Given the description of an element on the screen output the (x, y) to click on. 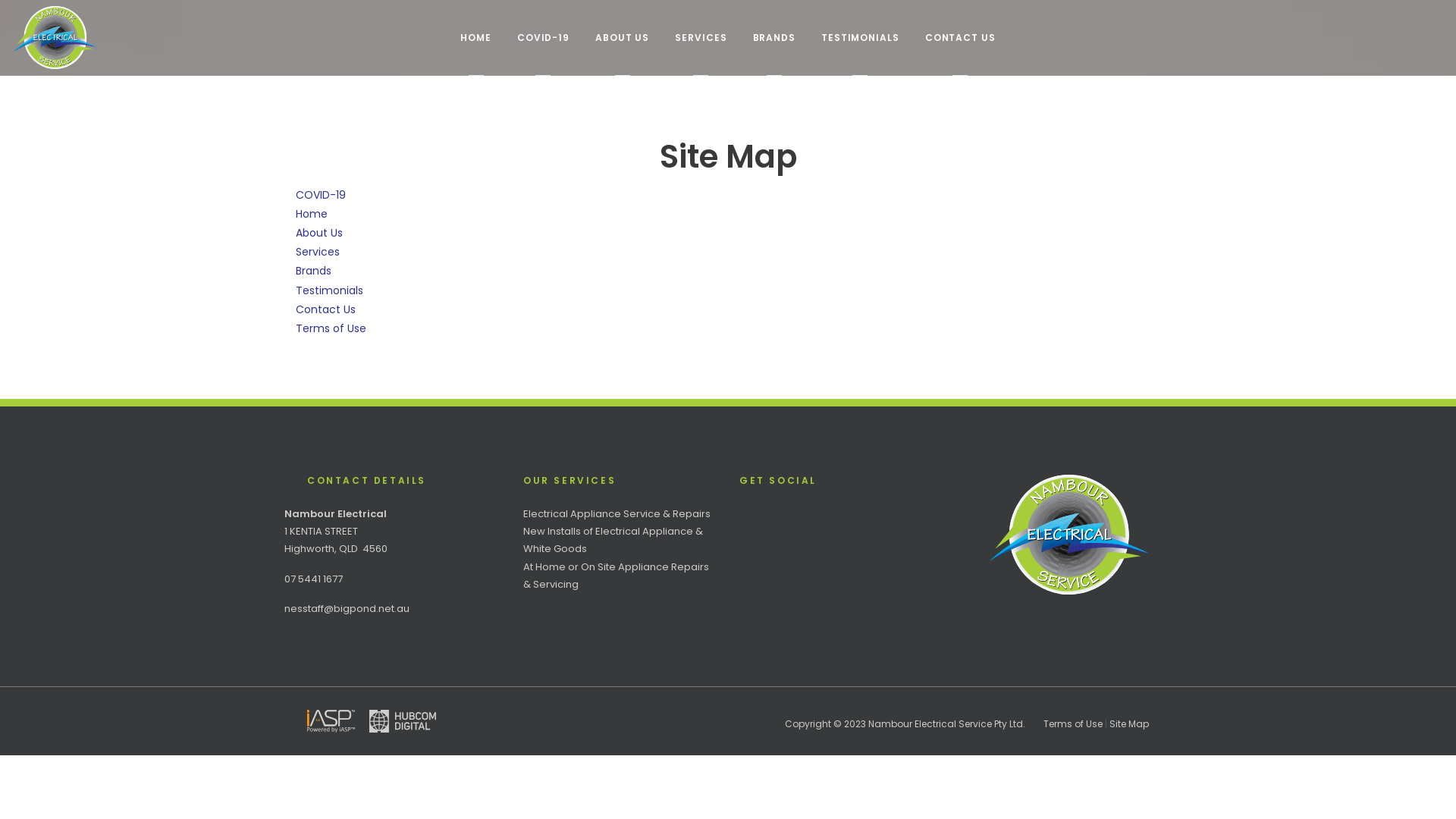
Web Design & Website Development by HubCom Digital Element type: hover (402, 719)
Home Element type: text (311, 213)
BRANDS Element type: text (773, 37)
07 5441 1677 Element type: text (313, 578)
Terms of Use Element type: text (1072, 723)
COVID-19 Element type: text (320, 194)
Terms of Use Element type: text (330, 327)
Contact Us Element type: text (325, 308)
About Us Element type: text (318, 232)
TESTIMONIALS Element type: text (859, 37)
Site Map Element type: text (1128, 723)
Nambour Electrical Service Element type: text (101, 37)
ABOUT US Element type: text (621, 37)
SERVICES Element type: text (700, 37)
At Home or On Site Appliance Repairs & Servicing Element type: text (616, 575)
COVID-19 Element type: text (542, 37)
Services Element type: text (317, 251)
CONTACT US Element type: text (960, 37)
Brands Element type: text (313, 270)
HOME Element type: text (475, 37)
Nambour Electrical Service Element type: hover (1068, 534)
New Installs of Electrical Appliance & White Goods Element type: text (612, 539)
Testimonials Element type: text (329, 290)
Electrical Appliance Service & Repairs Element type: text (616, 513)
nesstaff@bigpond.net.au Element type: text (346, 608)
